Given the description of an element on the screen output the (x, y) to click on. 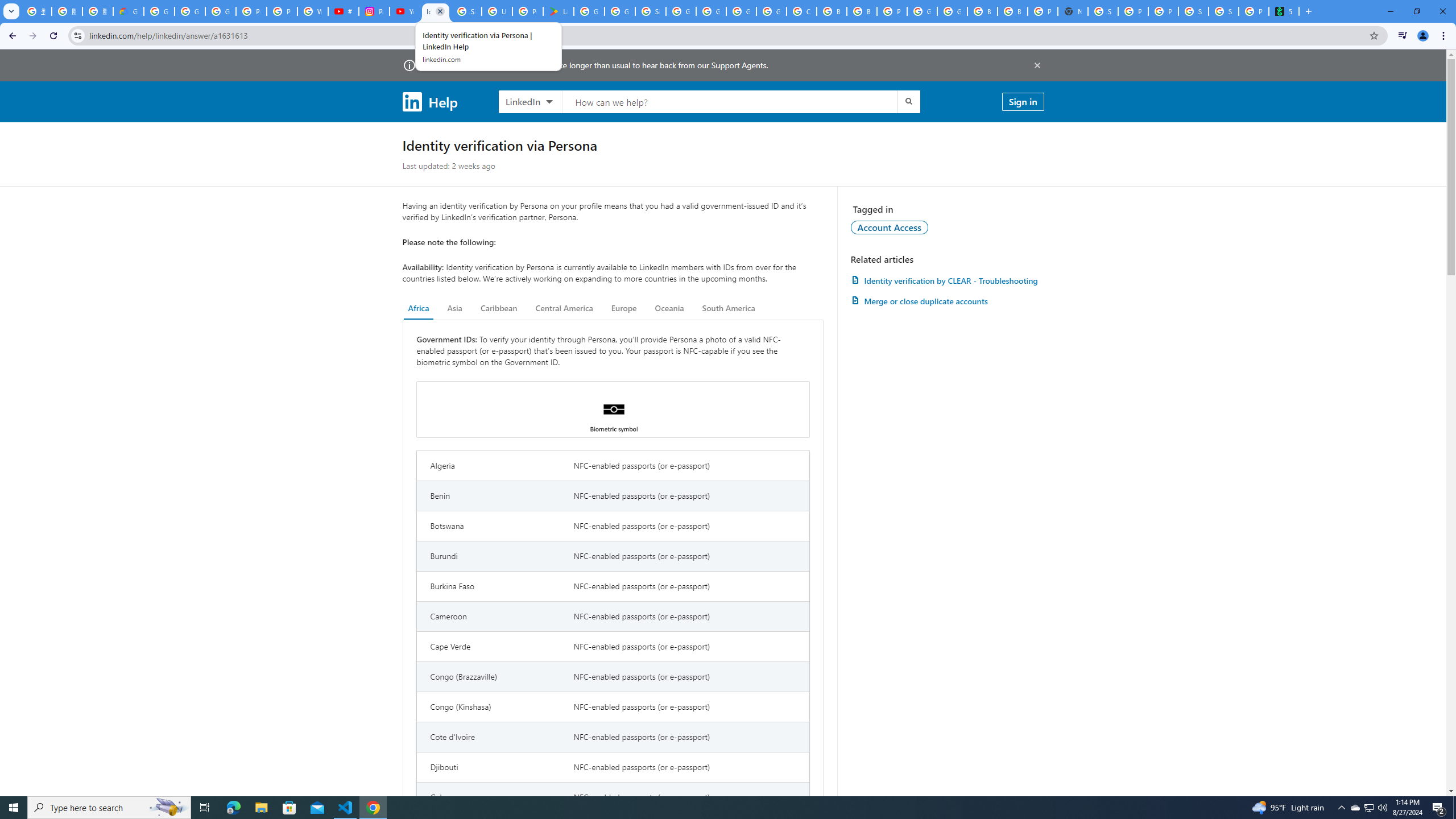
New Tab (1072, 11)
AutomationID: article-link-a1337200 (946, 300)
Google Cloud Platform (740, 11)
Africa (418, 308)
Last Shelter: Survival - Apps on Google Play (558, 11)
Restore (1416, 11)
AutomationID: article-link-a1457505 (946, 280)
Chrome (1445, 35)
Sign in (1022, 101)
